Given the description of an element on the screen output the (x, y) to click on. 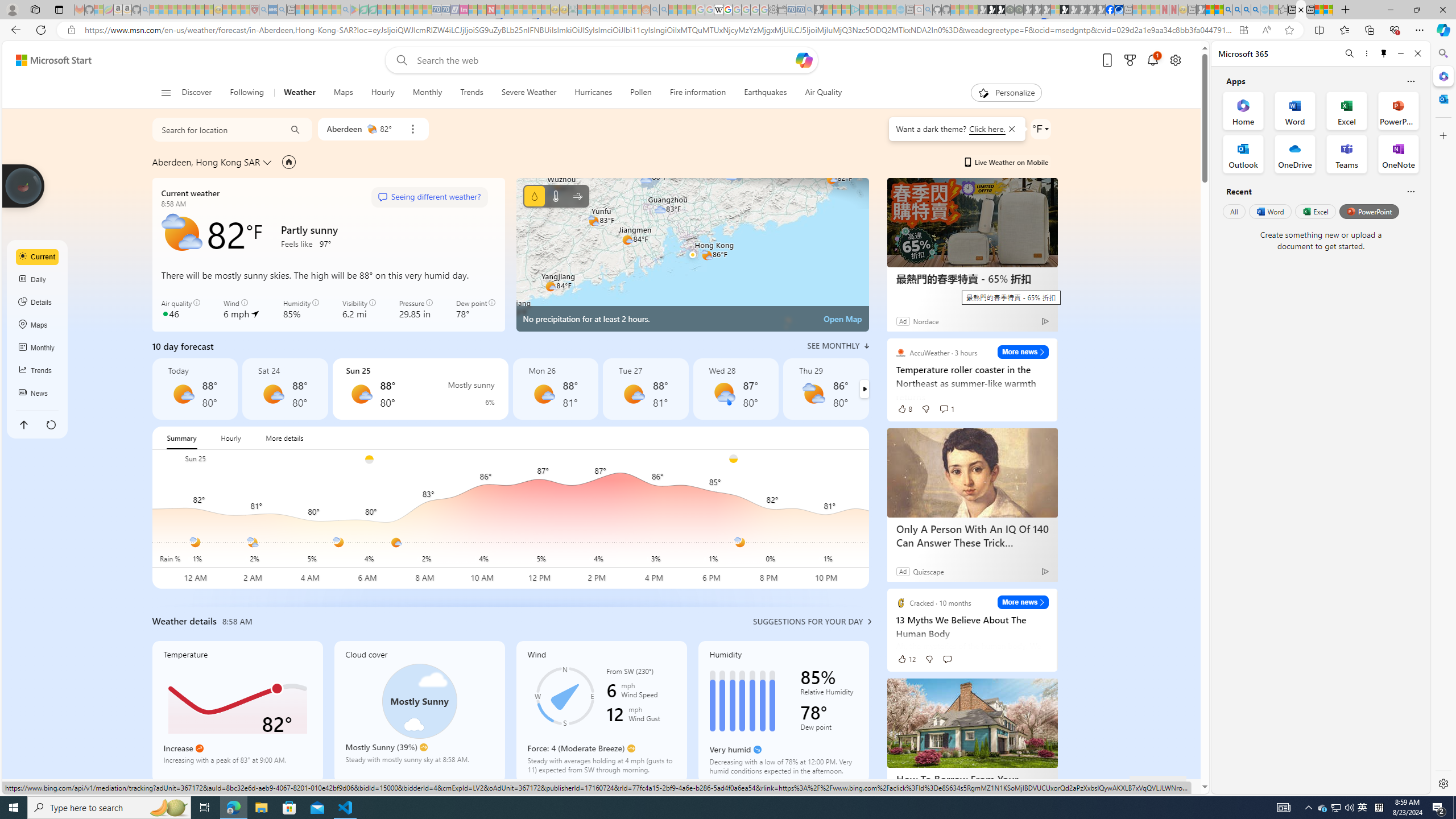
Class: feedback_link_icon-DS-EntryPoint1-1 (1140, 786)
Severe Weather (528, 92)
Terms of use (973, 785)
Pets - MSN - Sleeping (326, 9)
Class: cloudCoverSvg-DS-ps0R9q (419, 700)
Summary (181, 437)
Light rain showers (723, 393)
Hurricanes (593, 92)
Earthquakes (765, 92)
Daily (37, 279)
